Given the description of an element on the screen output the (x, y) to click on. 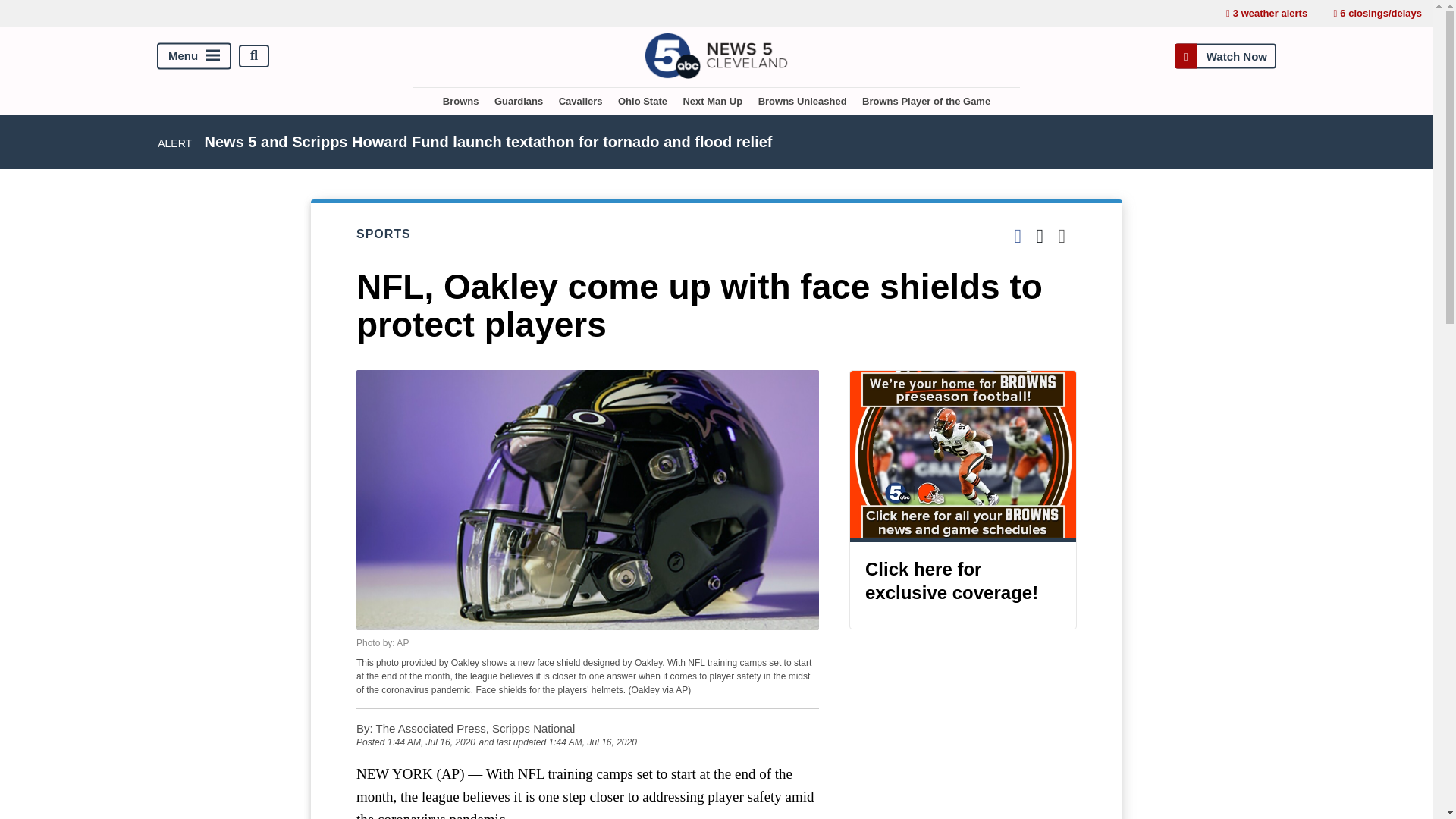
Watch Now (1224, 55)
3 weather alerts (1266, 13)
Menu (194, 55)
